Given the description of an element on the screen output the (x, y) to click on. 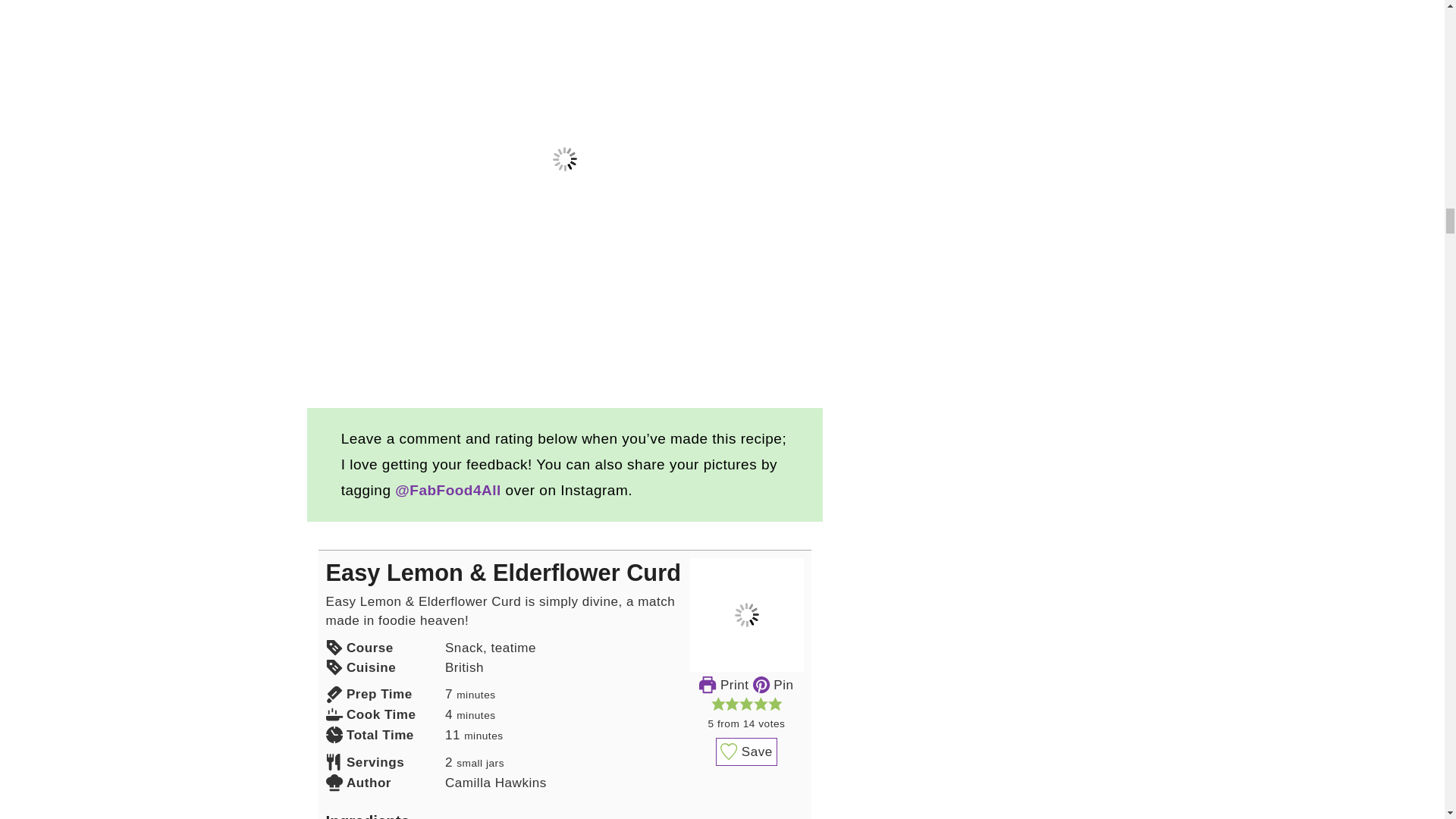
Print (723, 685)
Pin (772, 685)
Save (746, 751)
